Given the description of an element on the screen output the (x, y) to click on. 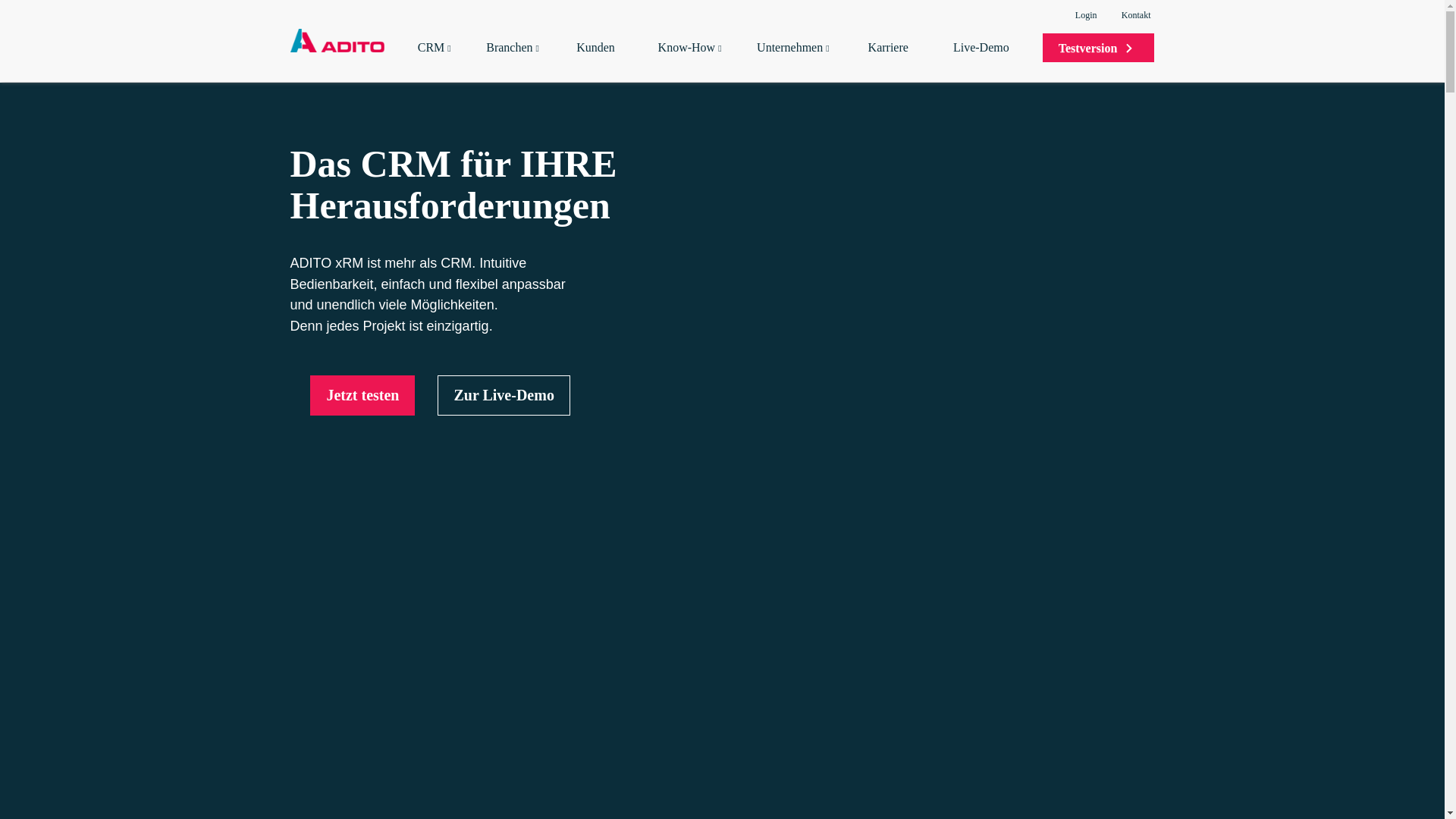
CRM Element type: text (437, 60)
Live-Demo Element type: text (986, 60)
Zur Live-Demo Element type: text (503, 395)
Login Element type: text (1084, 15)
Know-How Element type: text (692, 60)
Branchen Element type: text (516, 60)
Jetzt testen Element type: text (362, 395)
Kunden Element type: text (601, 60)
Testversion Element type: text (1098, 47)
Karriere Element type: text (895, 60)
Kontakt Element type: text (1135, 15)
Unternehmen Element type: text (797, 60)
